Given the description of an element on the screen output the (x, y) to click on. 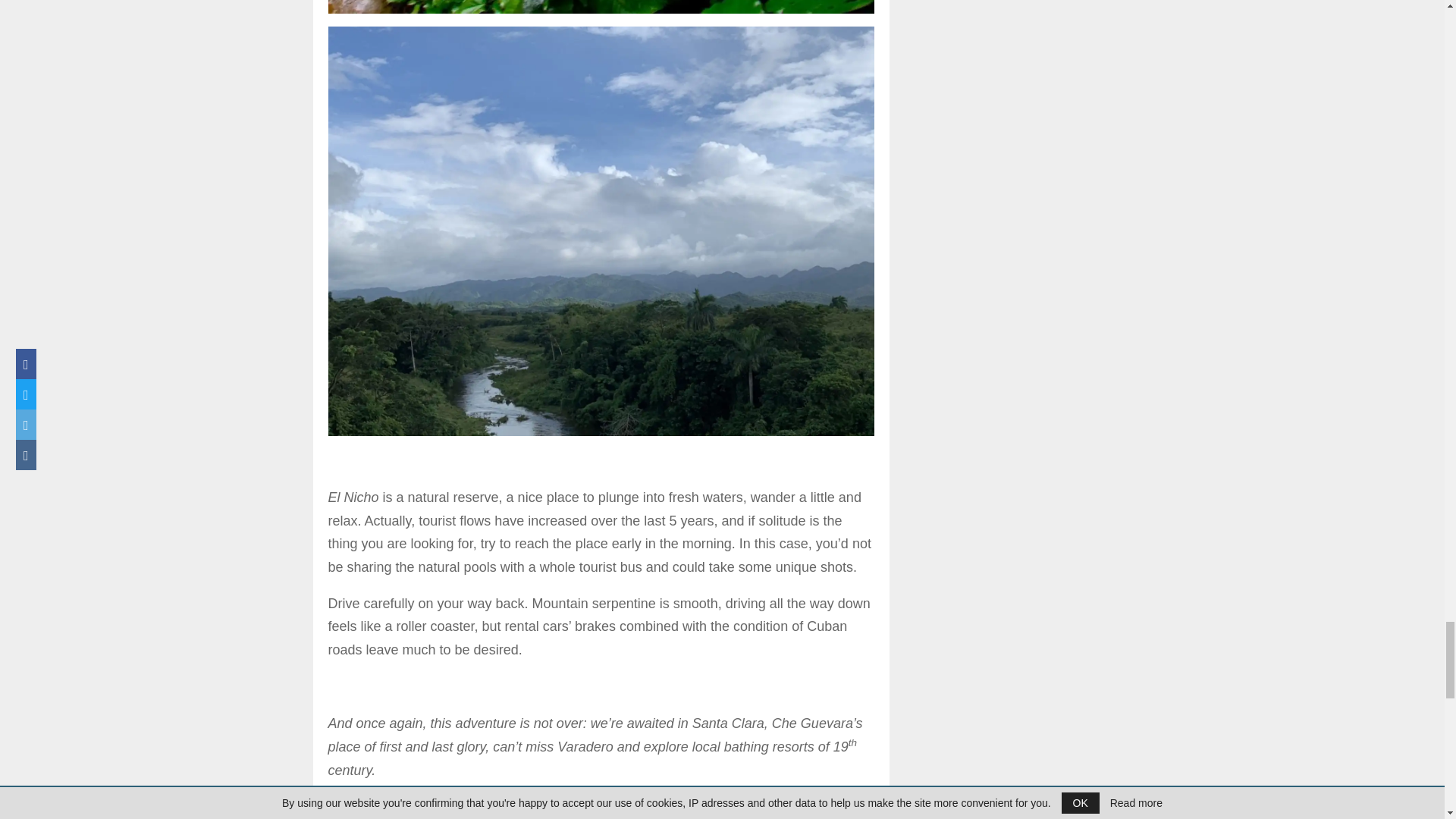
Cuba. One of a kind. Chapter II. 8 (600, 6)
here (711, 806)
